Given the description of an element on the screen output the (x, y) to click on. 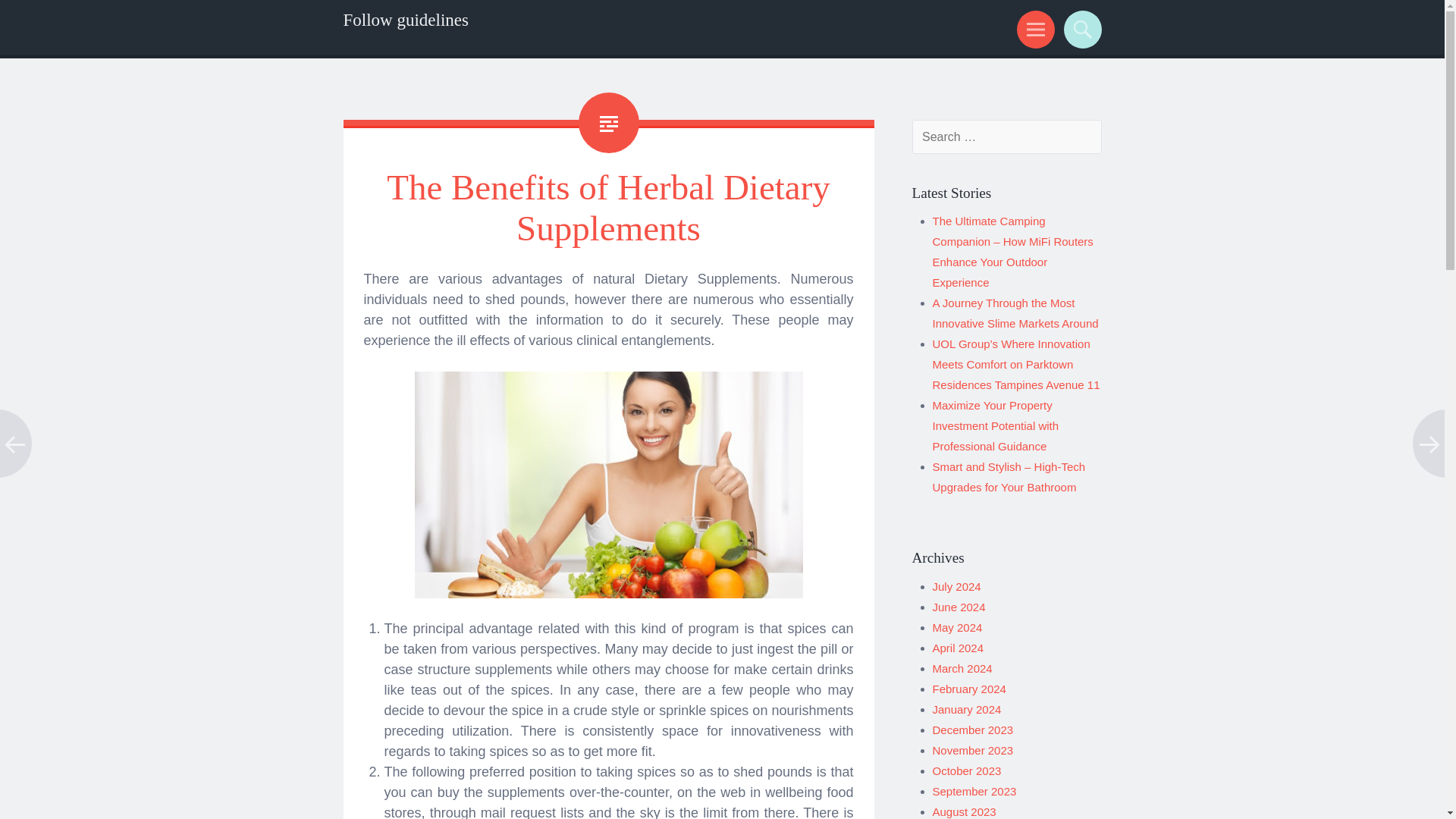
A Journey Through the Most Innovative Slime Markets Around (1016, 313)
November 2023 (973, 749)
December 2023 (973, 729)
February 2024 (969, 688)
April 2024 (958, 647)
March 2024 (962, 667)
August 2023 (964, 811)
September 2023 (974, 790)
October 2023 (967, 770)
